Given the description of an element on the screen output the (x, y) to click on. 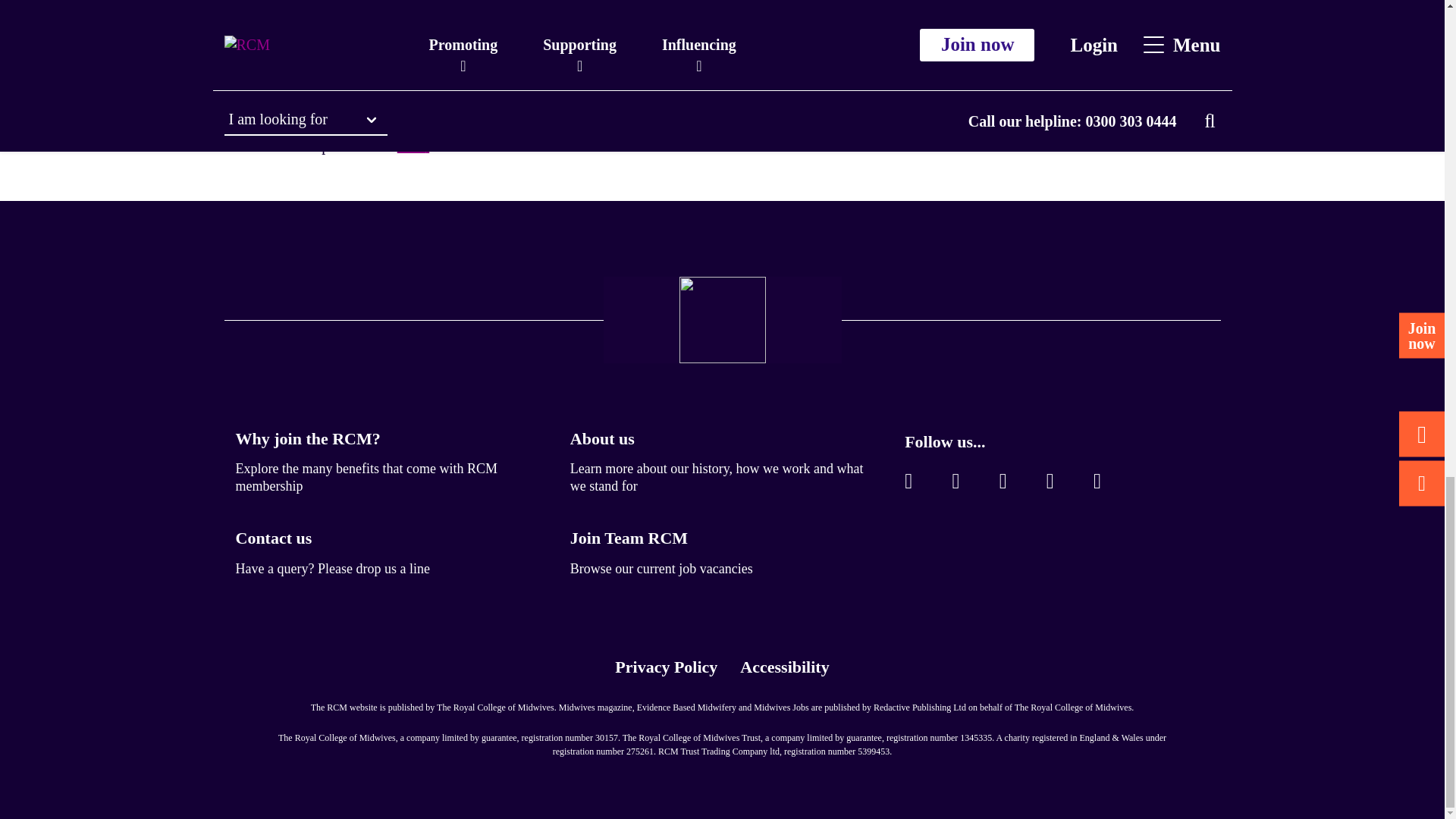
Why join the RCM? (307, 438)
Contact us (272, 537)
About us (602, 438)
Join Team RCM (628, 537)
